Given the description of an element on the screen output the (x, y) to click on. 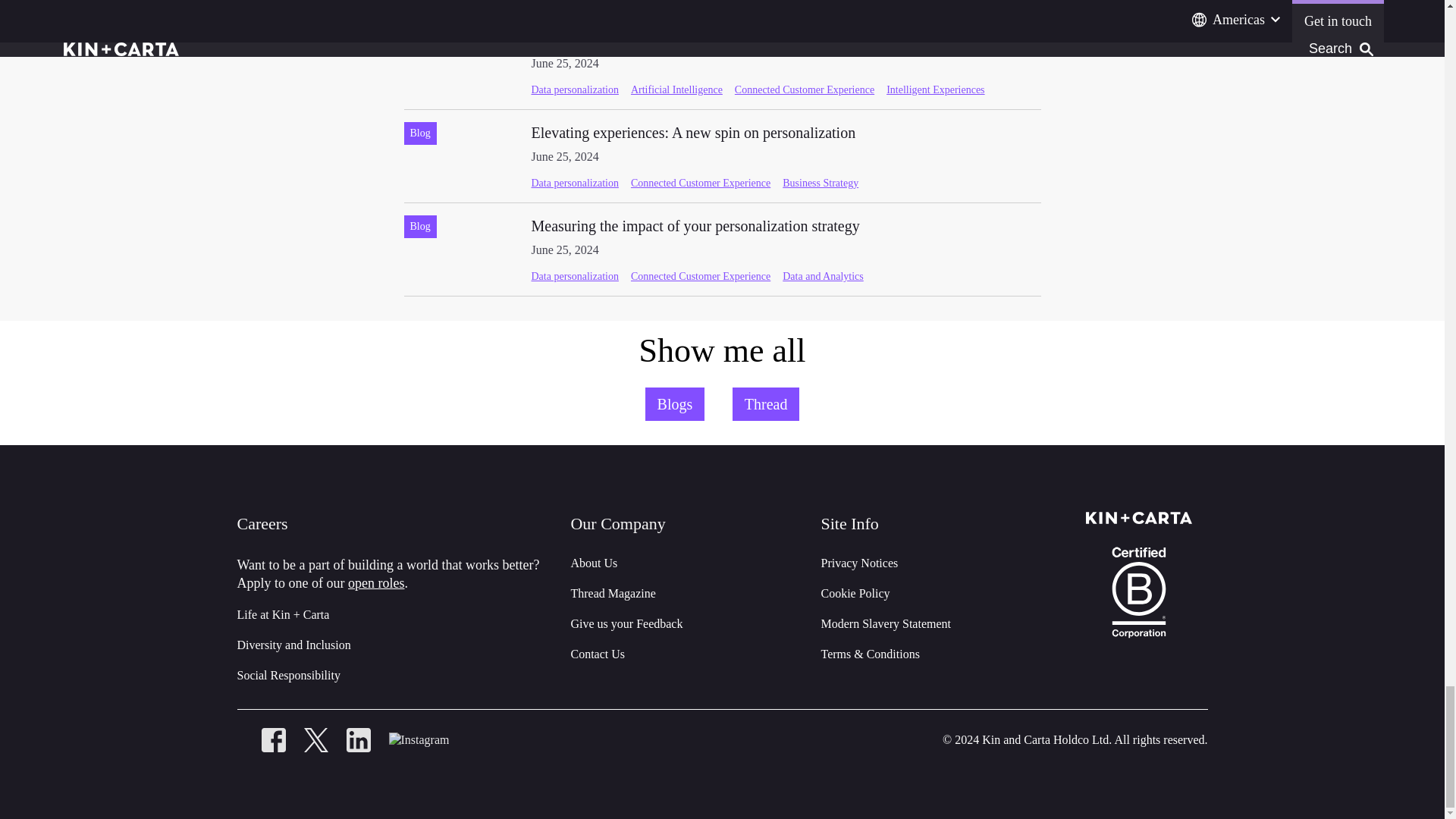
Blog (419, 39)
Blog (419, 133)
Contact Us (597, 653)
Cookie Policy (855, 593)
Connected Customer Experience (700, 183)
Data personalization (574, 89)
Data personalization (574, 183)
Privacy Notices (693, 132)
